Given the description of an element on the screen output the (x, y) to click on. 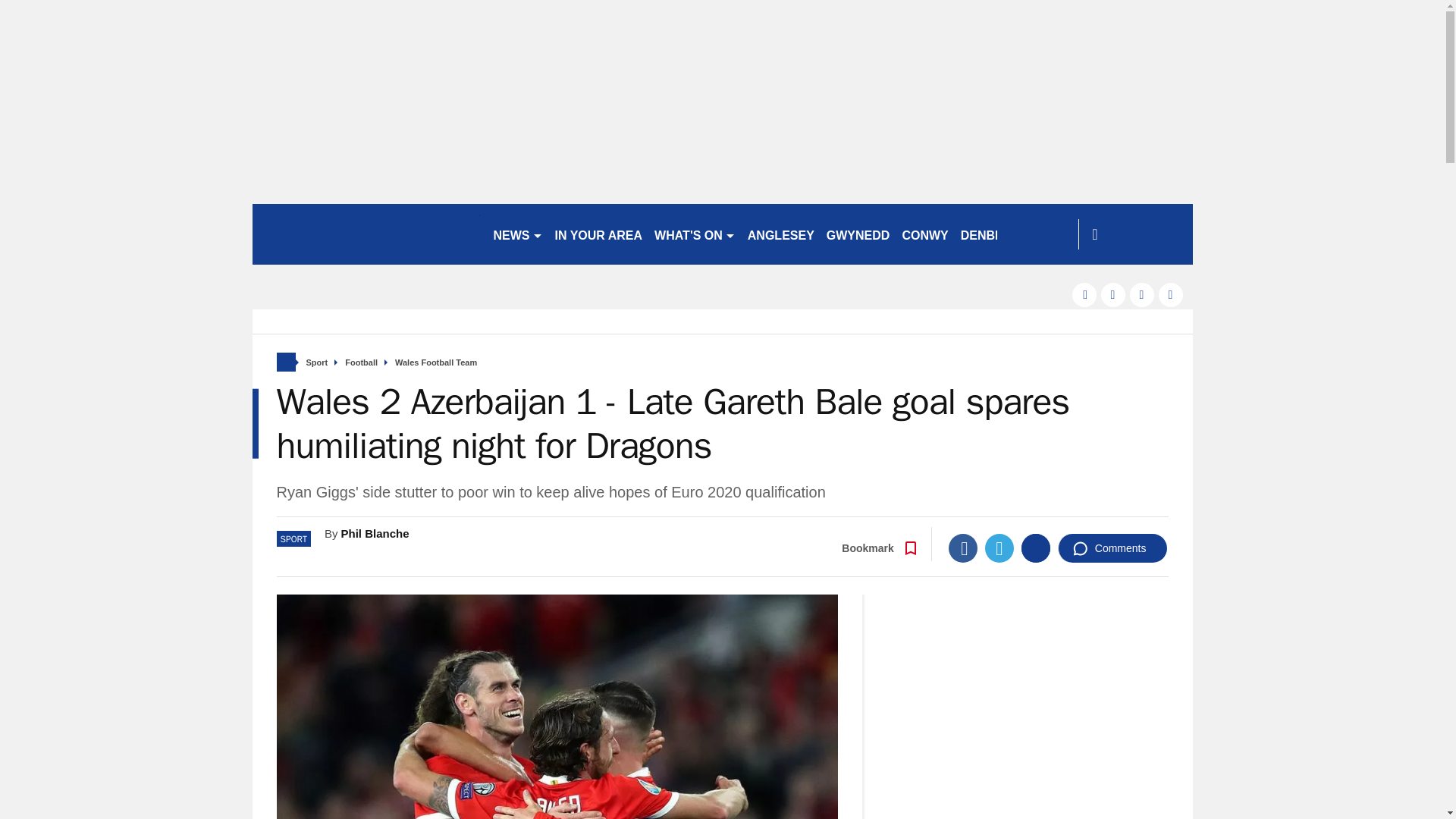
facebook (1083, 294)
IN YOUR AREA (598, 233)
Twitter (999, 547)
NEWS (517, 233)
Comments (1112, 547)
GWYNEDD (858, 233)
northwales (365, 233)
twitter (1112, 294)
ANGLESEY (781, 233)
Facebook (962, 547)
